Given the description of an element on the screen output the (x, y) to click on. 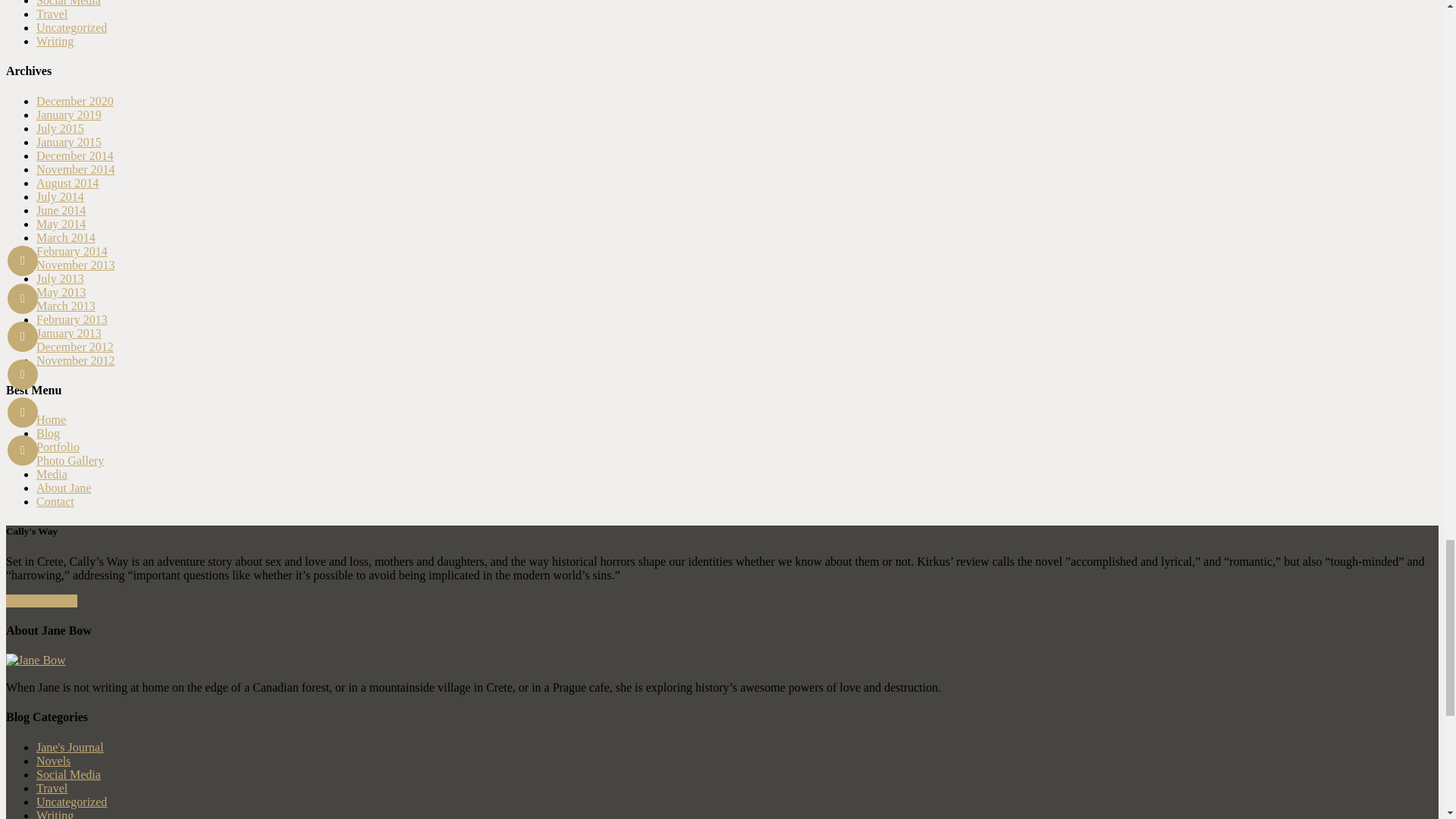
Blogs about creativity, writing, novels, books (55, 41)
